Given the description of an element on the screen output the (x, y) to click on. 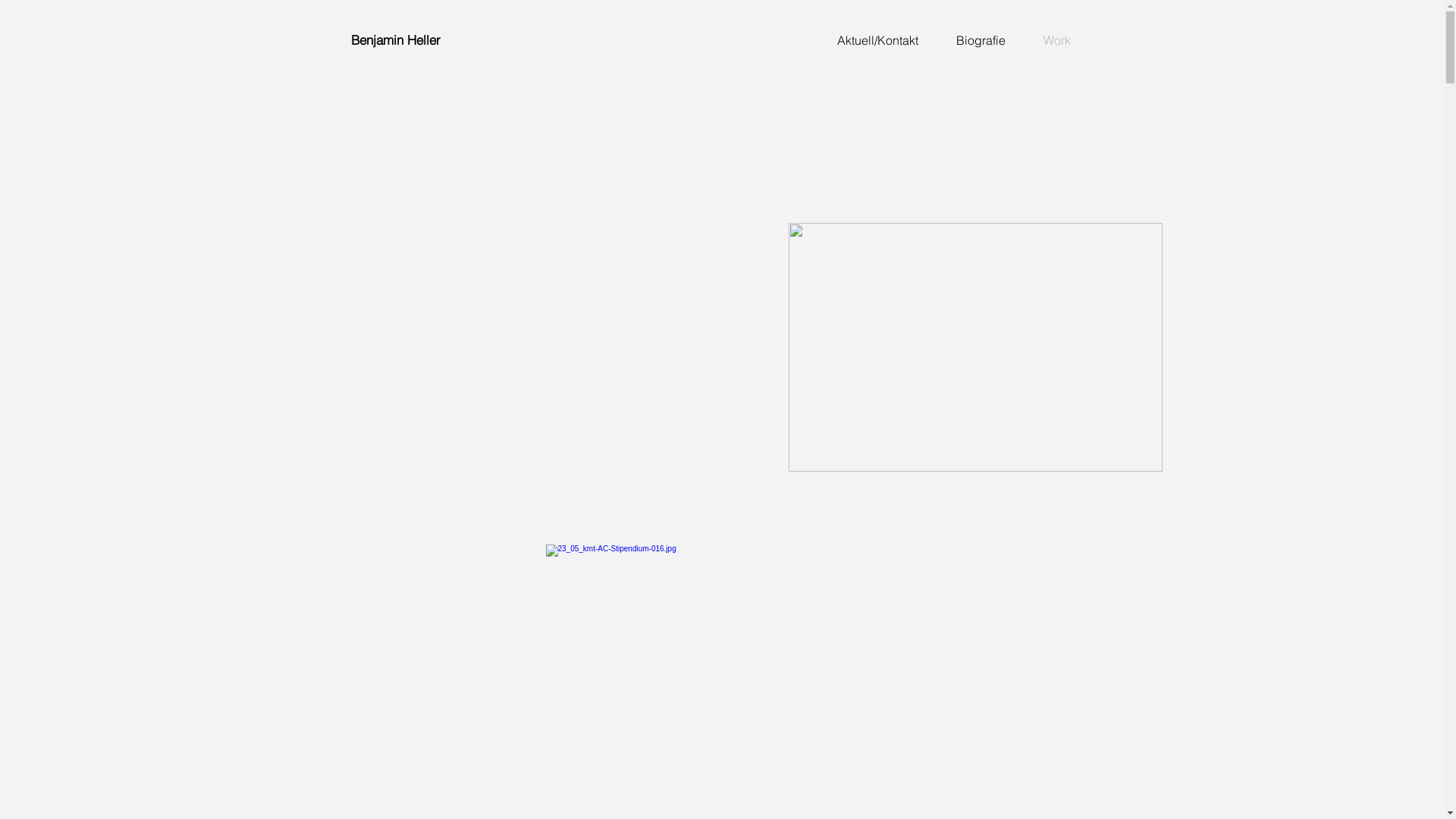
Tankstelle_Prod_1_025.jpg Element type: hover (975, 346)
Aktuell/Kontakt Element type: text (876, 40)
Biografie Element type: text (980, 40)
Work Element type: text (1055, 40)
Benjamin Heller Element type: text (394, 39)
